Given the description of an element on the screen output the (x, y) to click on. 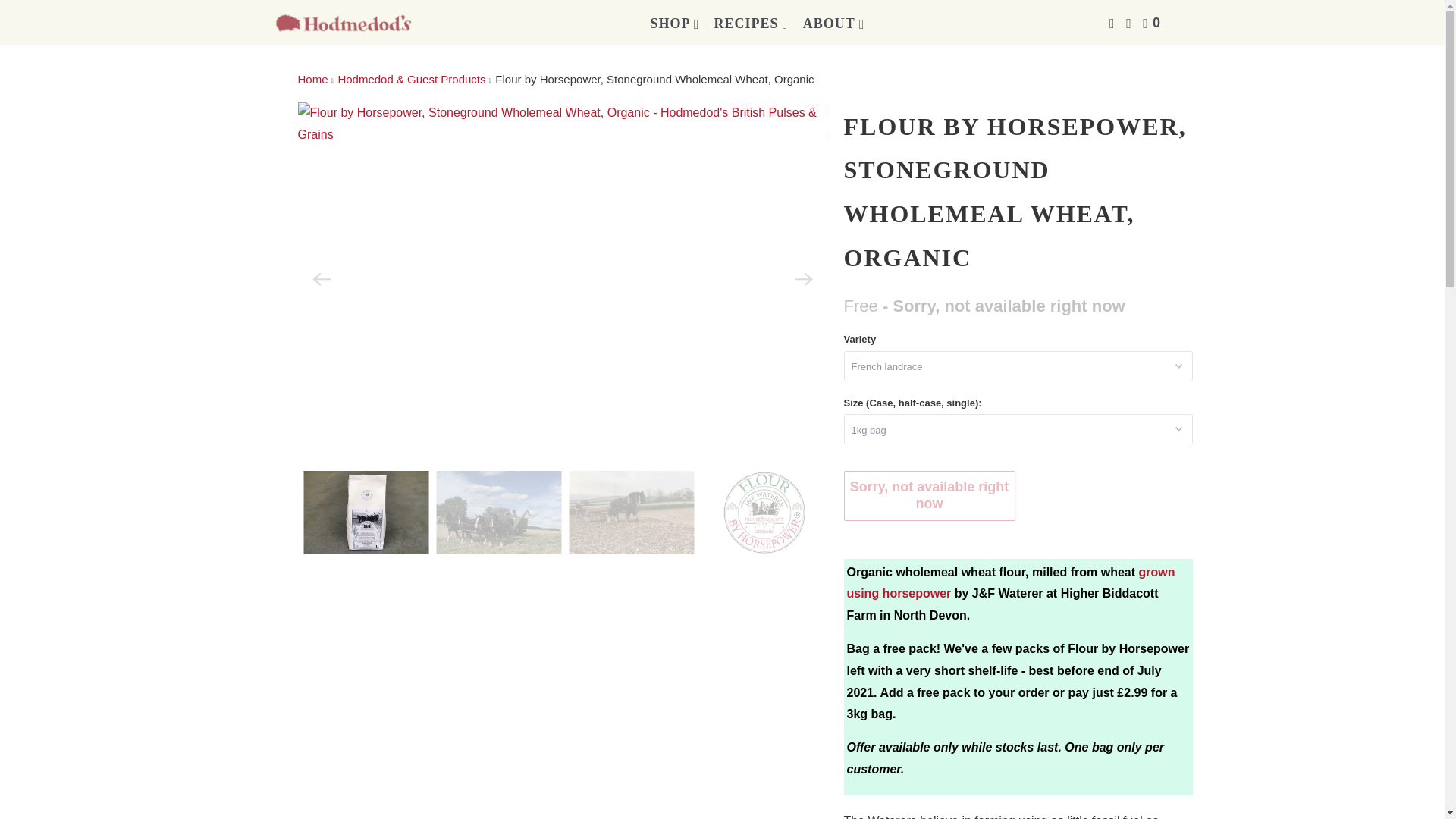
Hodmedod's British Wholefoods (342, 22)
Hodmedod's British Wholefoods (312, 78)
Flour by Horsepower (1009, 582)
